Given the description of an element on the screen output the (x, y) to click on. 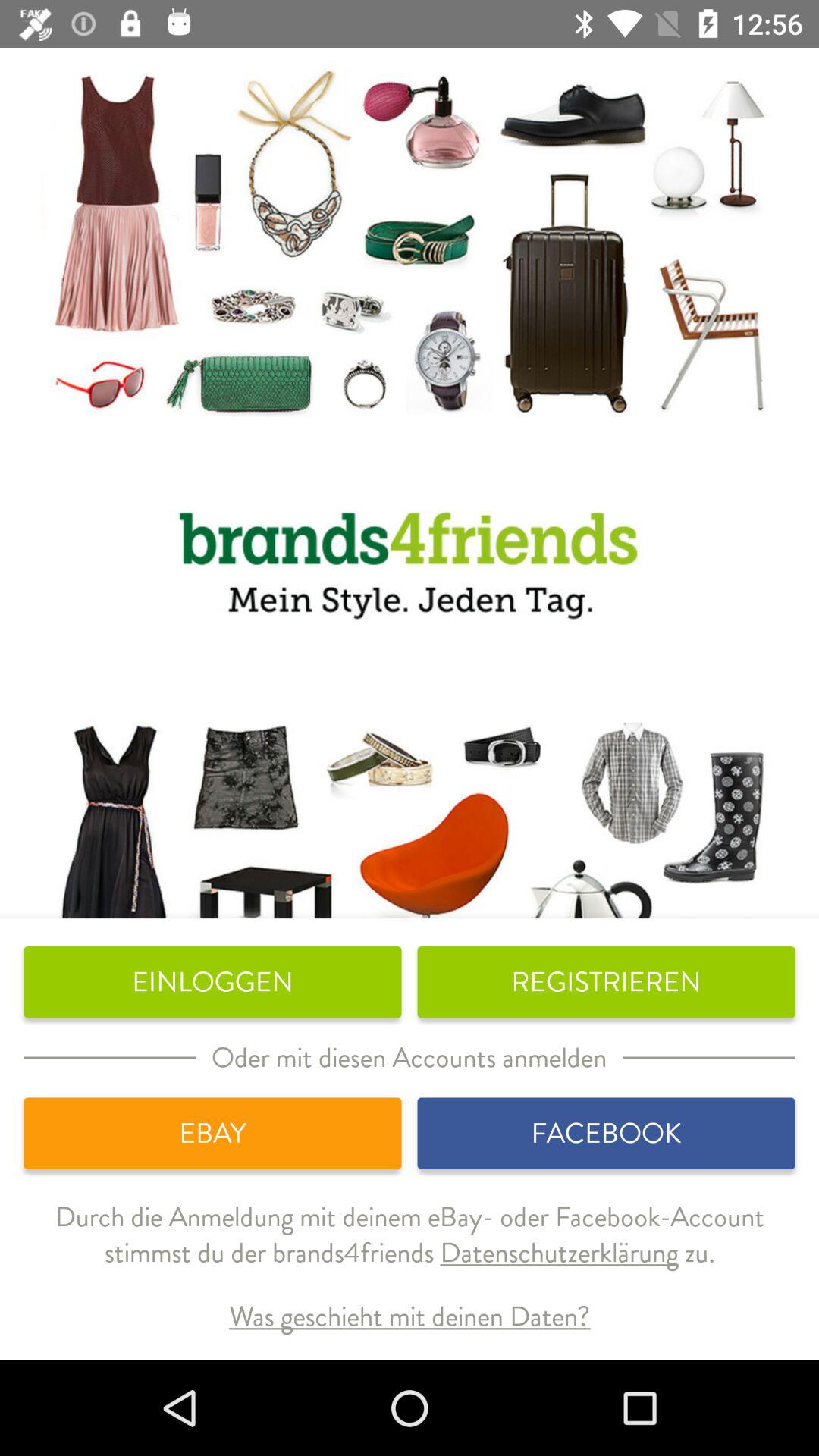
click icon next to the einloggen icon (606, 982)
